Given the description of an element on the screen output the (x, y) to click on. 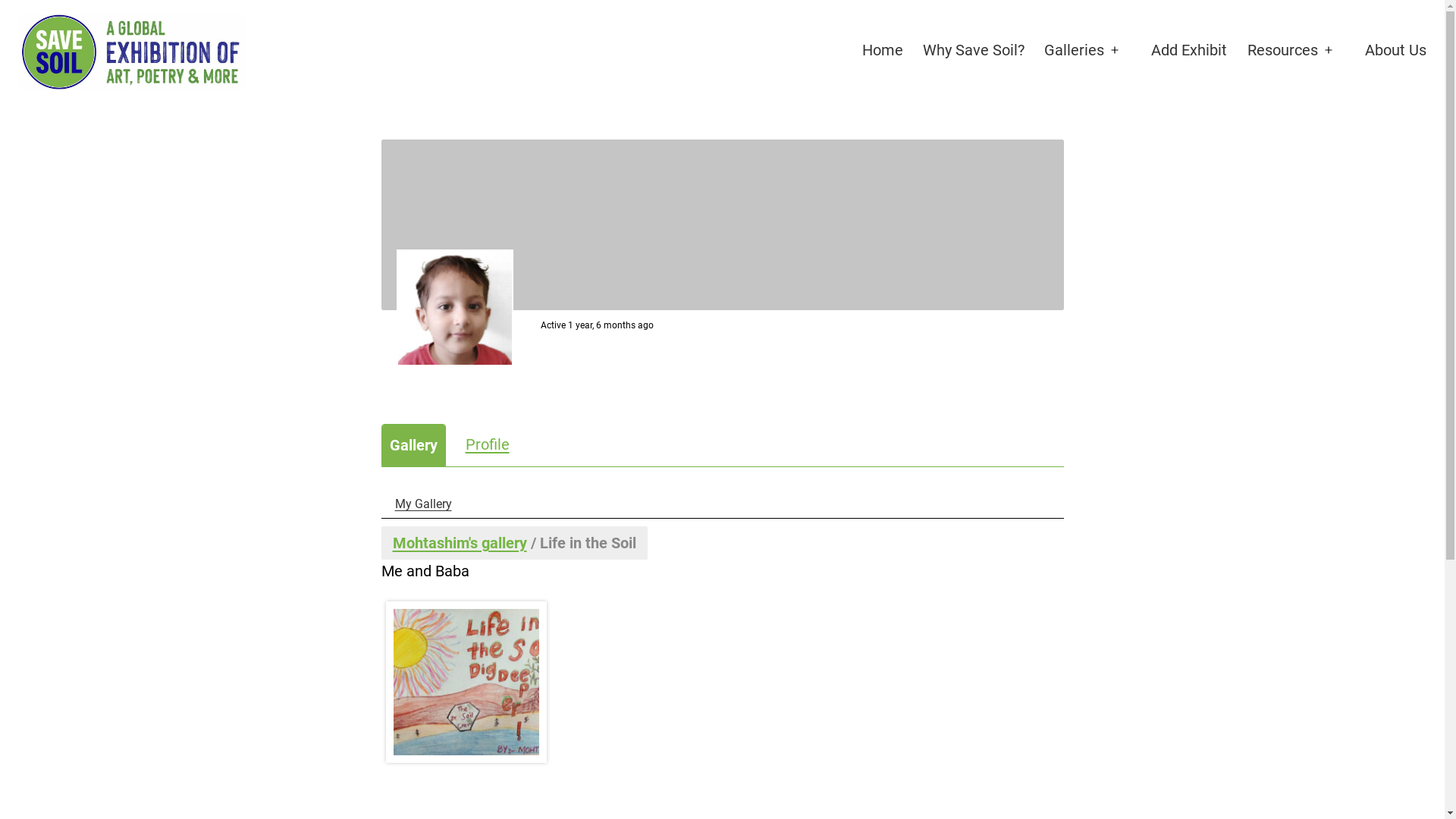
Galleries Element type: text (1073, 50)
Mohtashim's gallery Element type: text (459, 542)
Resources Element type: text (1282, 50)
My Gallery Element type: text (422, 503)
Why Save Soil? Element type: text (973, 50)
Gallery Element type: text (413, 444)
Open menu Element type: text (1124, 50)
About Us Element type: text (1395, 50)
Profile Element type: text (487, 443)
Add Exhibit Element type: text (1188, 50)
Home Element type: text (881, 50)
Open menu Element type: text (1338, 50)
Mohtashim Artwork Element type: hover (466, 681)
